Given the description of an element on the screen output the (x, y) to click on. 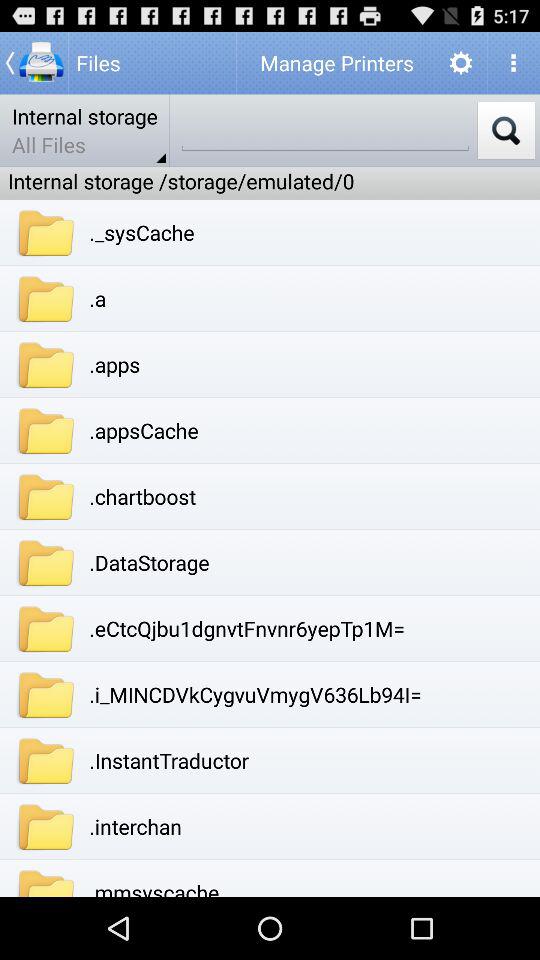
select app below the .ectcqjbu1dgnvtfnvnr6yeptp1m= (255, 694)
